Given the description of an element on the screen output the (x, y) to click on. 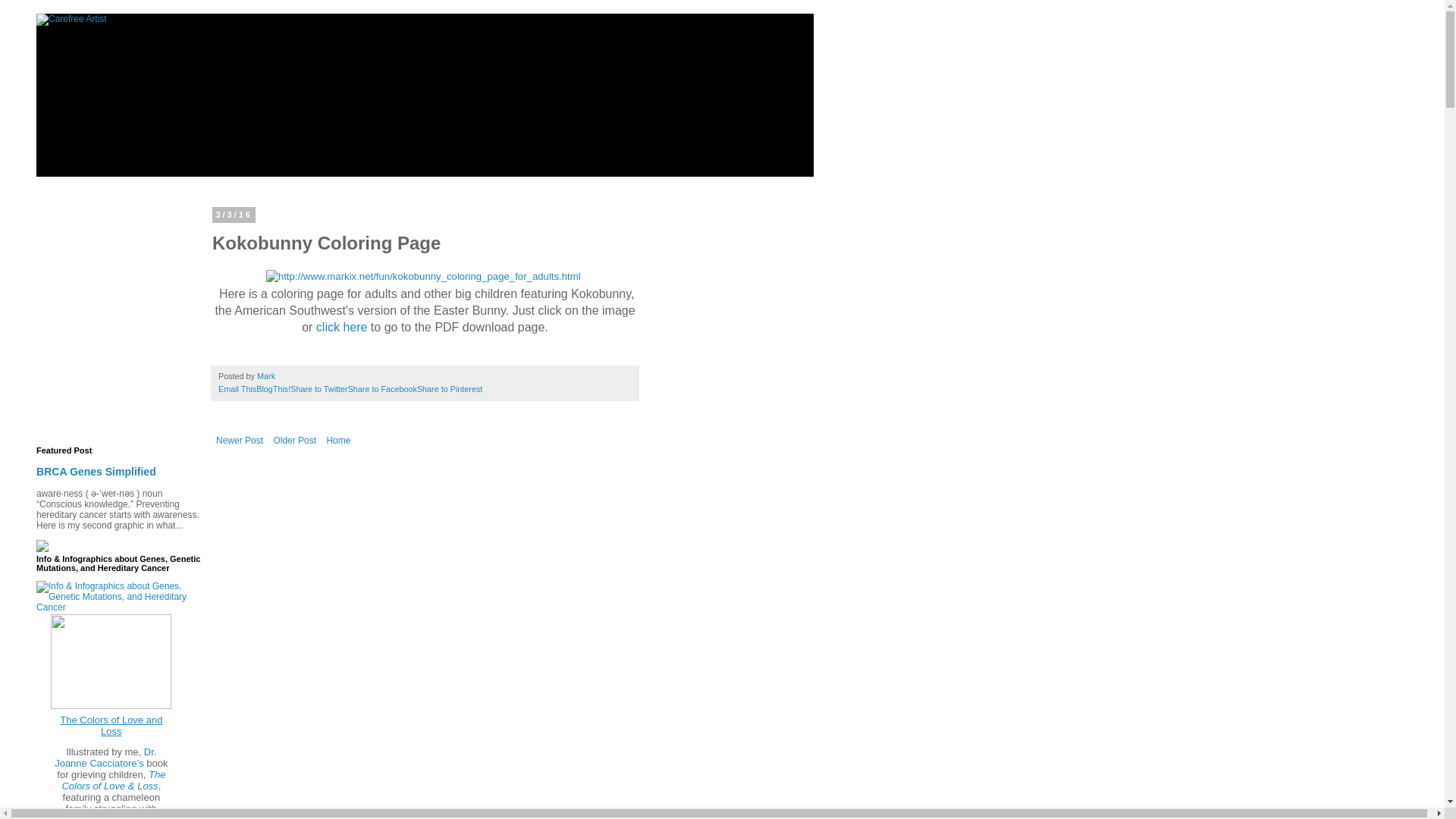
BlogThis! (272, 388)
Share to Pinterest (448, 388)
Newer Post (239, 440)
Email This (237, 388)
Share to Twitter (318, 388)
Older Post (294, 440)
Home (337, 440)
Mark (267, 375)
Email Post (284, 375)
Newer Post (239, 440)
author profile (267, 375)
Email This (237, 388)
Share to Twitter (318, 388)
Older Post (294, 440)
click here (341, 327)
